Given the description of an element on the screen output the (x, y) to click on. 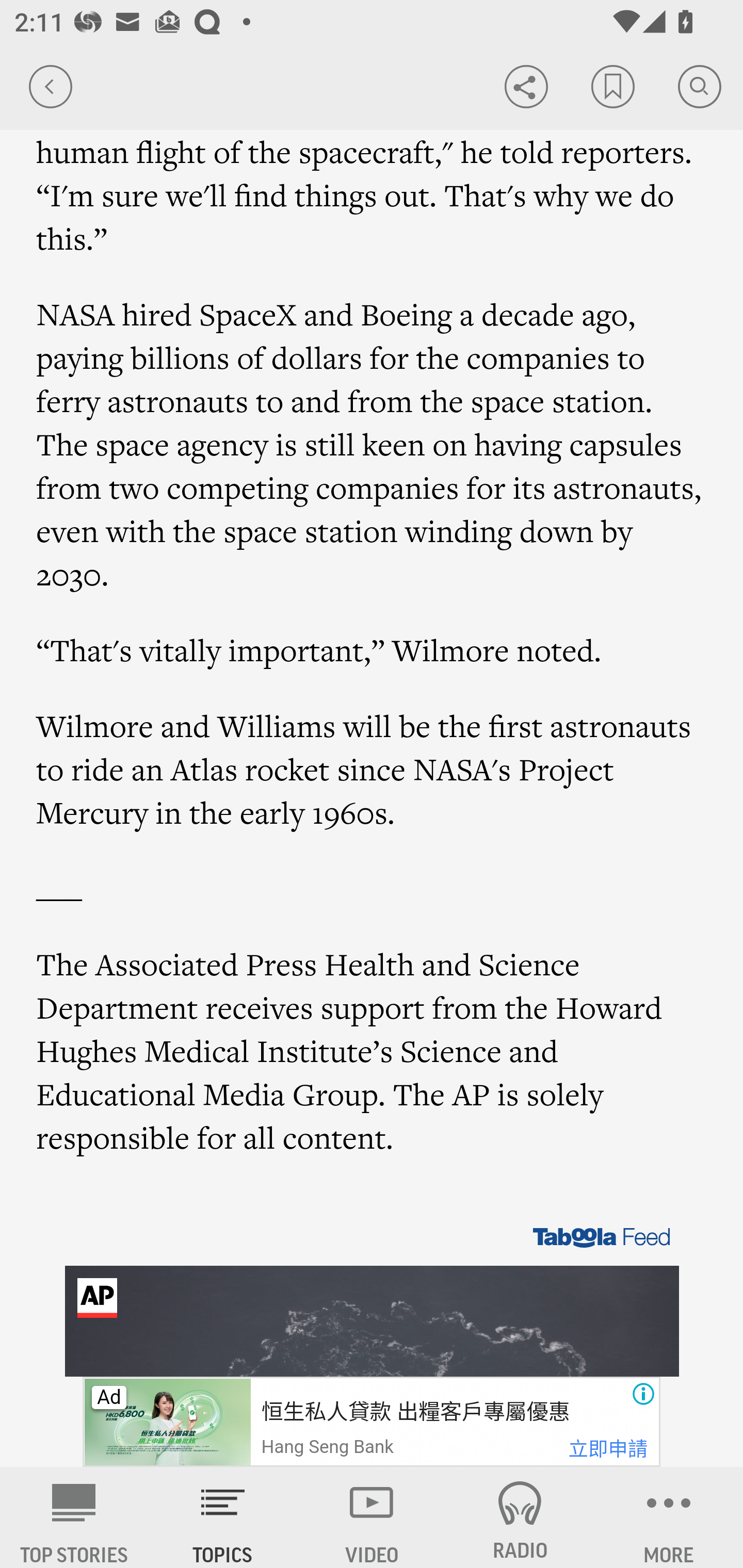
Image for Taboola Advertising Unit (372, 1301)
恒生私人貸款 出糧客戶專屬優惠 (414, 1411)
Hang Seng Bank (326, 1447)
立即申請 (607, 1449)
AP News TOP STORIES (74, 1517)
TOPICS (222, 1517)
VIDEO (371, 1517)
RADIO (519, 1517)
MORE (668, 1517)
